Given the description of an element on the screen output the (x, y) to click on. 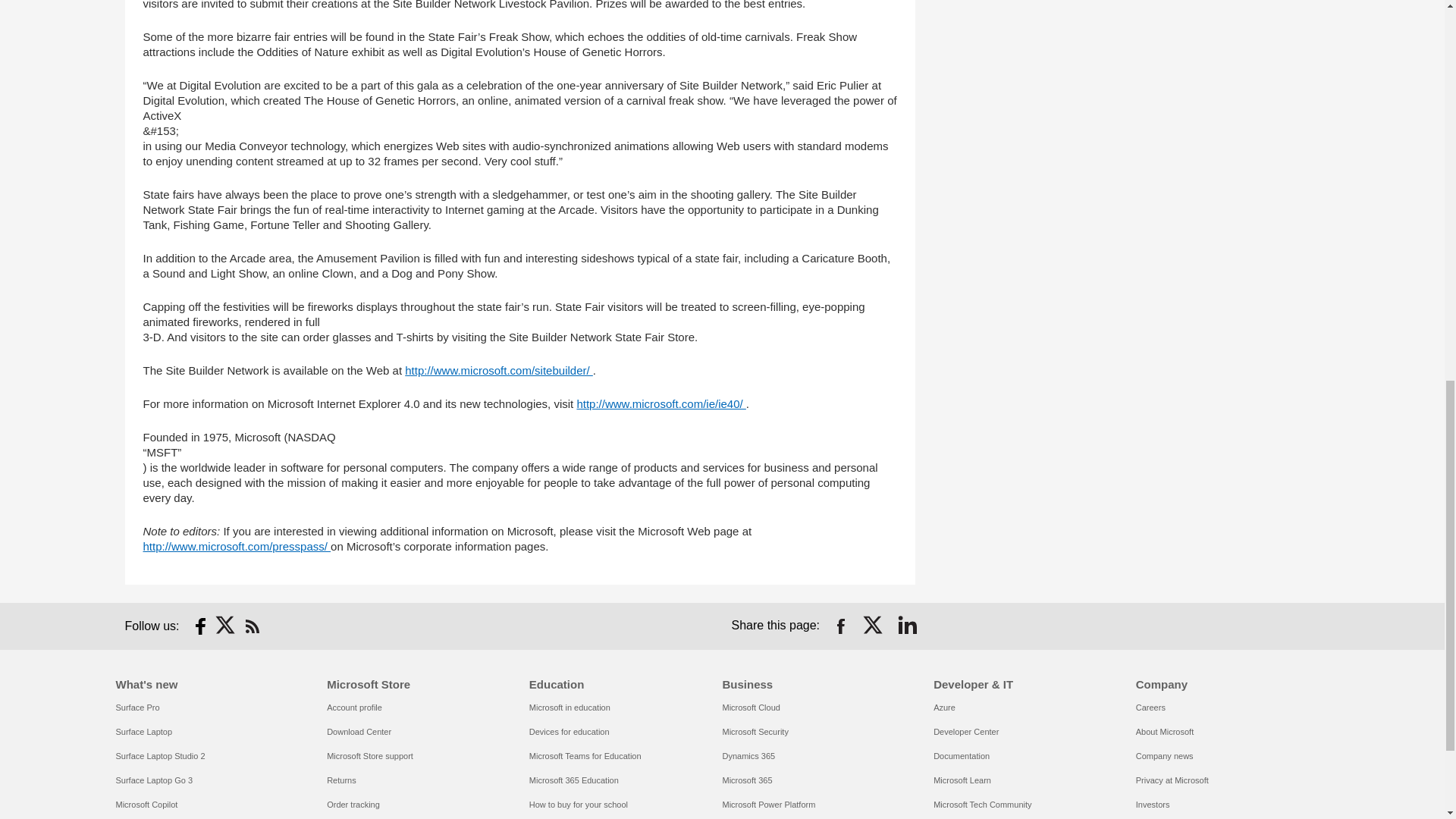
Share on Twitter (873, 626)
Share on Facebook (840, 626)
Follow on Twitter (226, 626)
Follow on Facebook (200, 626)
RSS Subscription (252, 626)
Share on LinkedIn (907, 626)
